Given the description of an element on the screen output the (x, y) to click on. 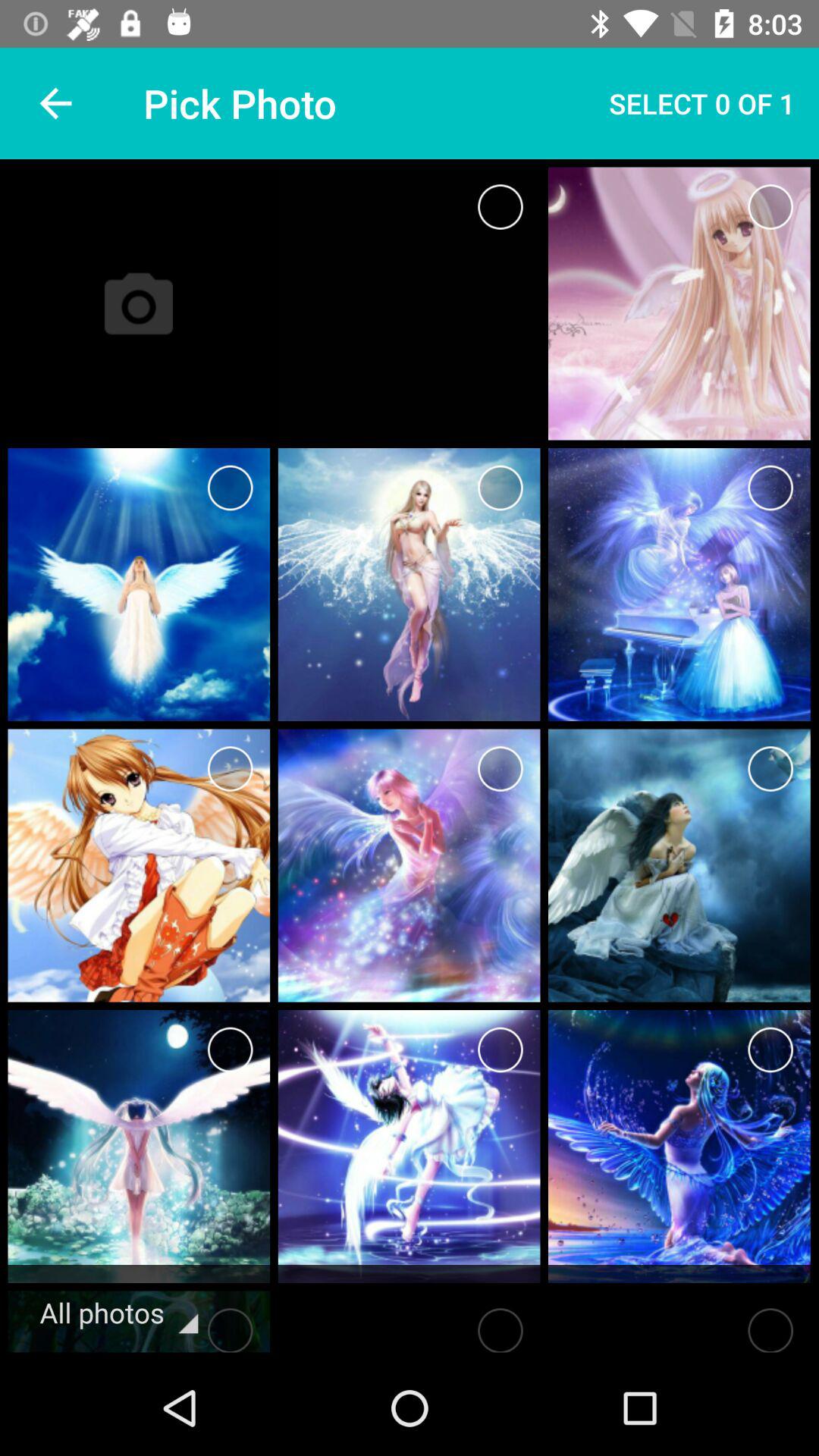
select object (500, 1325)
